Given the description of an element on the screen output the (x, y) to click on. 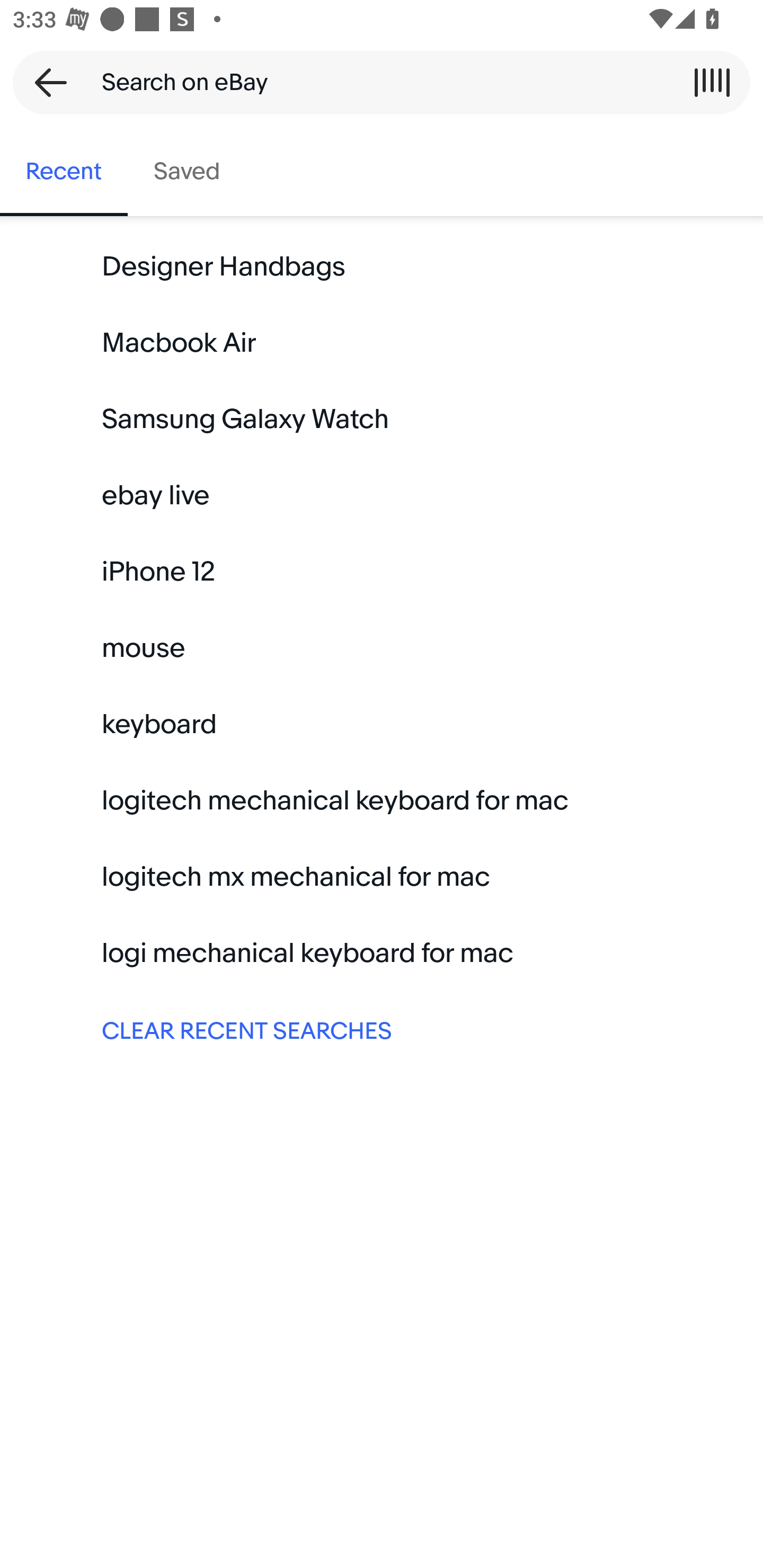
Back (44, 82)
Scan a barcode (711, 82)
Search on eBay (375, 82)
Saved, tab 2 of 2 Saved (186, 171)
Macbook Air Keyword search Macbook Air: (381, 343)
ebay live Keyword search ebay live: (381, 495)
iPhone 12 Keyword search iPhone 12: (381, 571)
mouse Keyword search mouse: (381, 647)
keyboard Keyword search keyboard: (381, 724)
CLEAR RECENT SEARCHES (381, 1028)
